Given the description of an element on the screen output the (x, y) to click on. 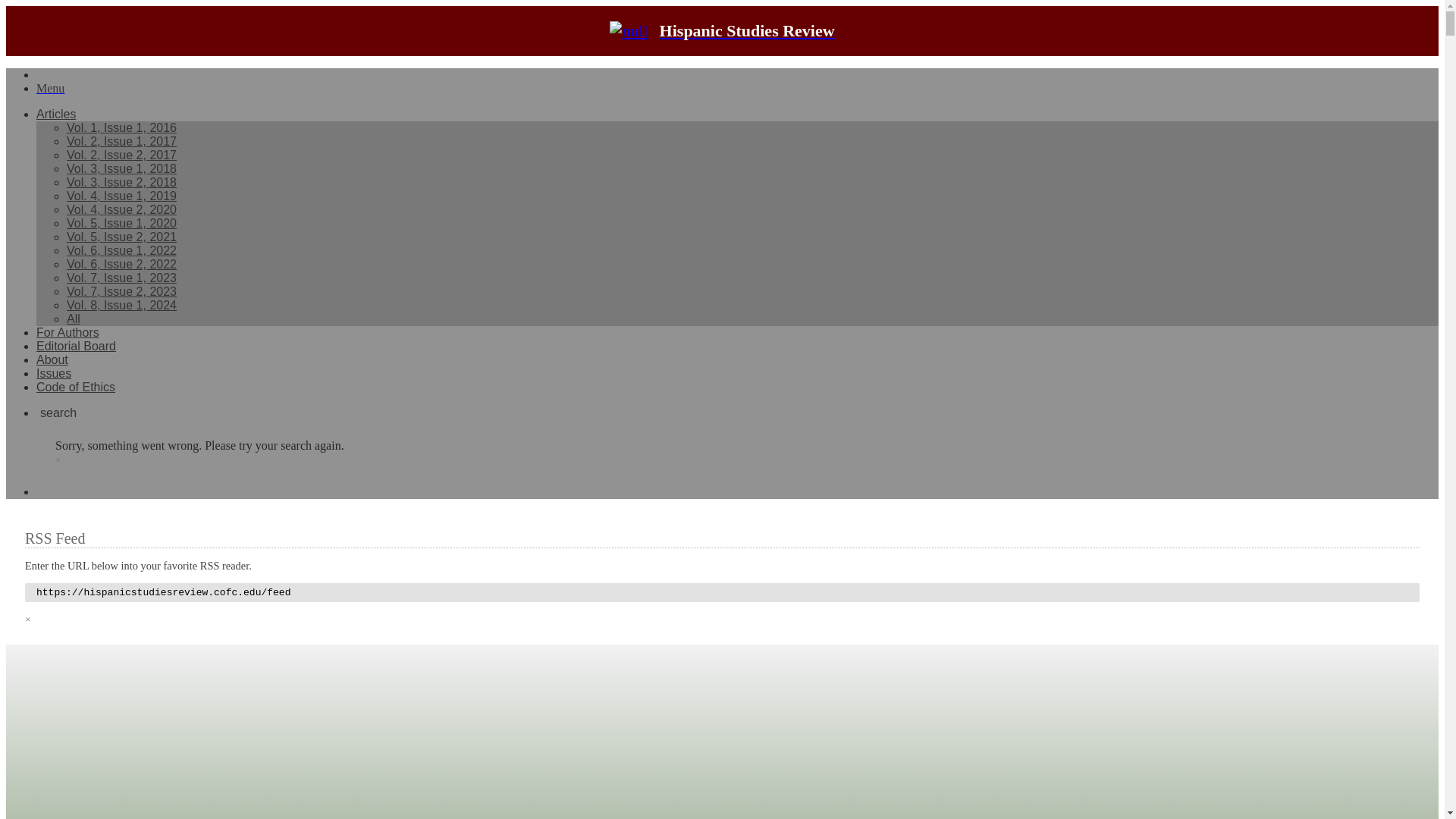
Vol. 6, Issue 2, 2022 (121, 264)
About (52, 359)
Hispanic Studies Review (722, 30)
All (73, 318)
For Authors (67, 332)
Vol. 2, Issue 2, 2017 (121, 154)
Editorial Board (76, 345)
Vol. 7, Issue 1, 2023 (121, 277)
Vol. 2, Issue 1, 2017 (121, 141)
Vol. 3, Issue 1, 2018 (121, 168)
